Given the description of an element on the screen output the (x, y) to click on. 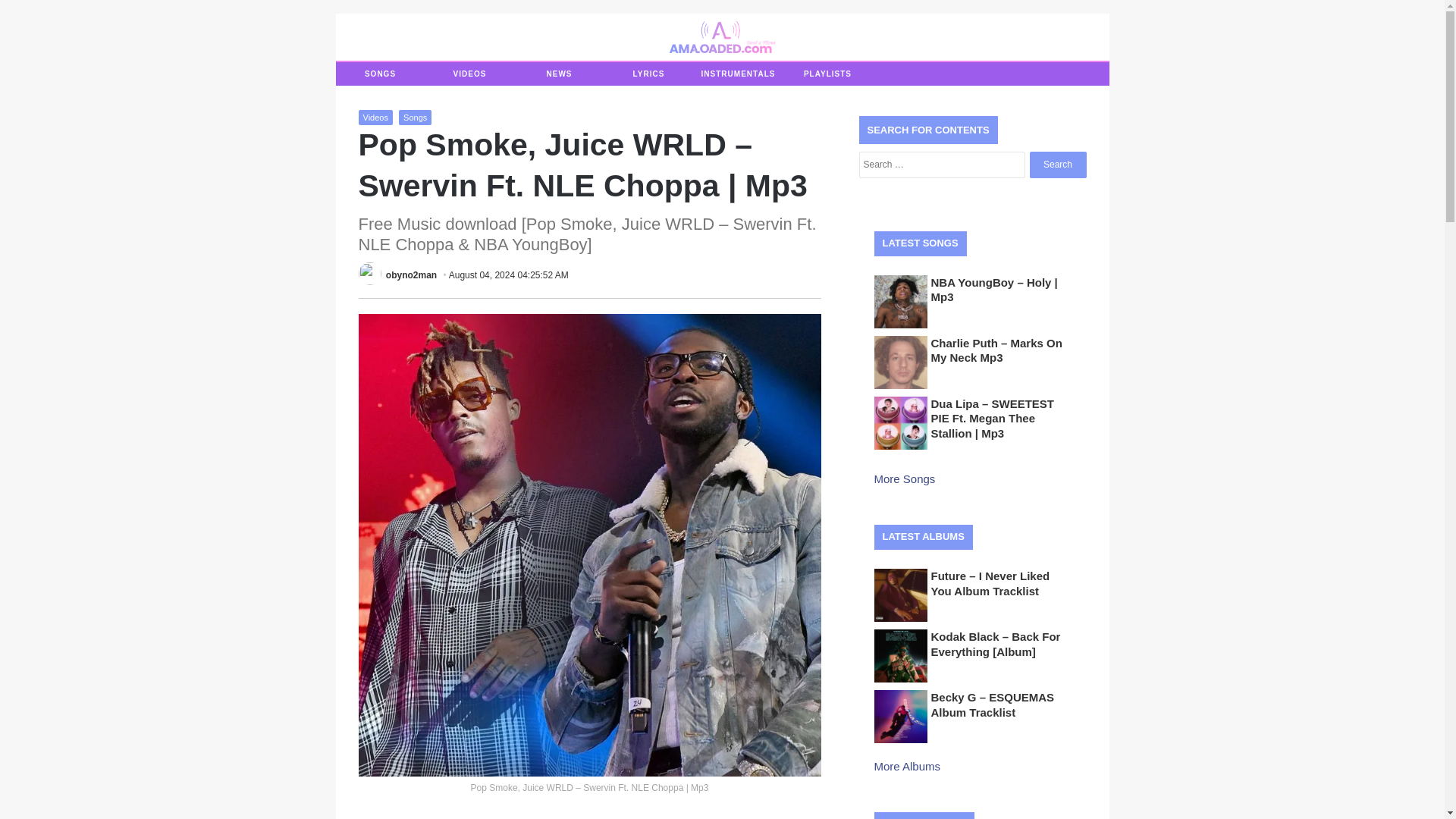
obyno2man (410, 275)
PLAYLISTS (827, 73)
Search (1057, 164)
LYRICS (648, 73)
Posts by obyno2man (410, 275)
Search (1057, 164)
VIDEOS (469, 73)
INSTRUMENTALS (738, 73)
SONGS (379, 73)
Songs (414, 117)
Videos (374, 117)
Search (1057, 164)
NEWS (558, 73)
